Given the description of an element on the screen output the (x, y) to click on. 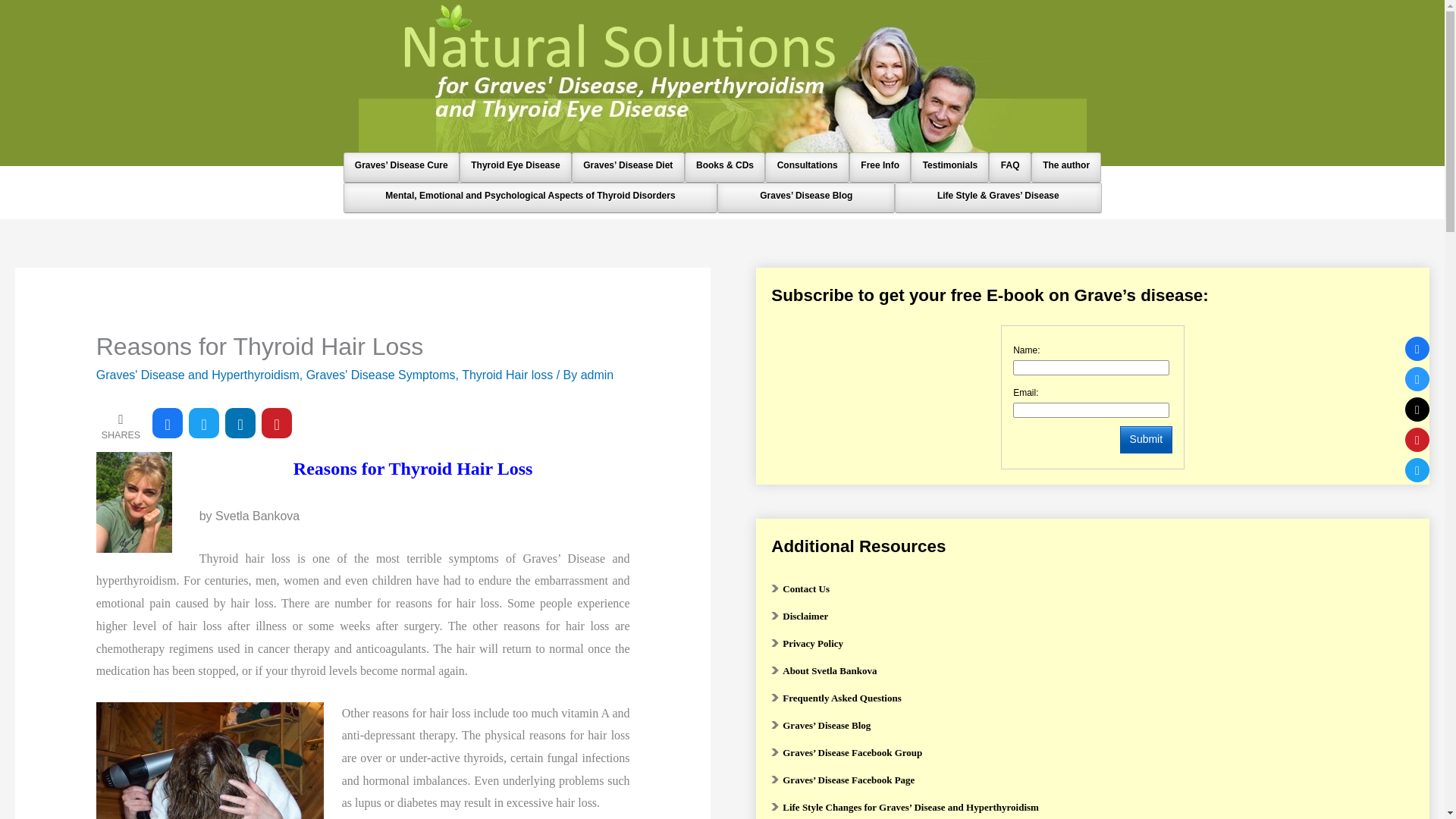
Graves' Disease and Hyperthyroidism (197, 374)
Tweet this ! (204, 422)
Add this to LinkedIn (240, 422)
Thyroid Eye Disease (515, 165)
Graves' Disease Symptoms (380, 374)
Email (1417, 409)
Facebook messenger (1417, 378)
Facebook (1417, 348)
Consultations (807, 165)
Submit this to Pinterest (277, 422)
Share this on Facebook (167, 422)
Testimonials (950, 165)
Free Info (880, 165)
Twitter (1417, 469)
